Given the description of an element on the screen output the (x, y) to click on. 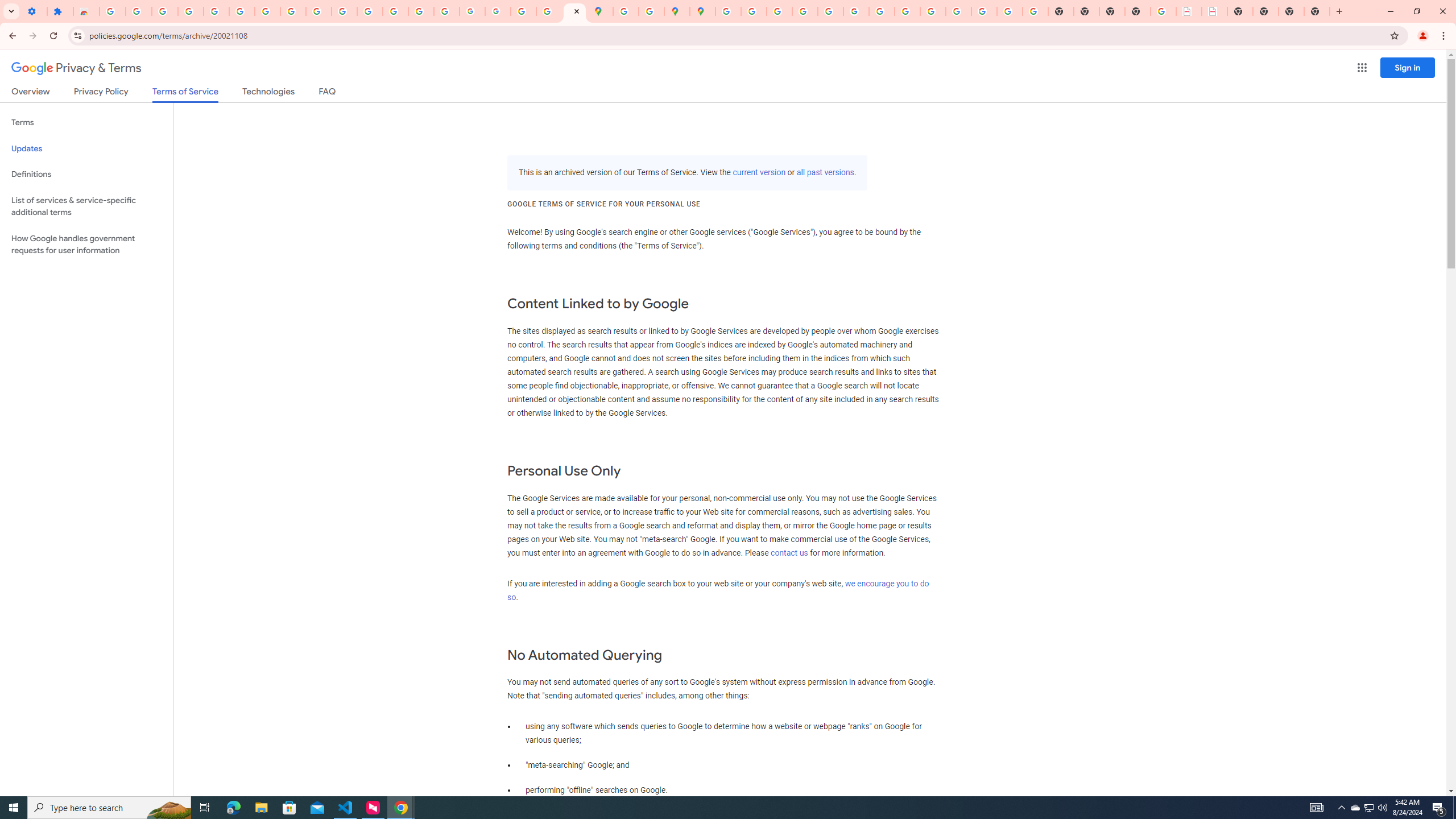
BAE Systems Brasil | BAE Systems (1213, 11)
Sign in - Google Accounts (242, 11)
all past versions (825, 172)
List of services & service-specific additional terms (86, 206)
Google Maps (600, 11)
